Given the description of an element on the screen output the (x, y) to click on. 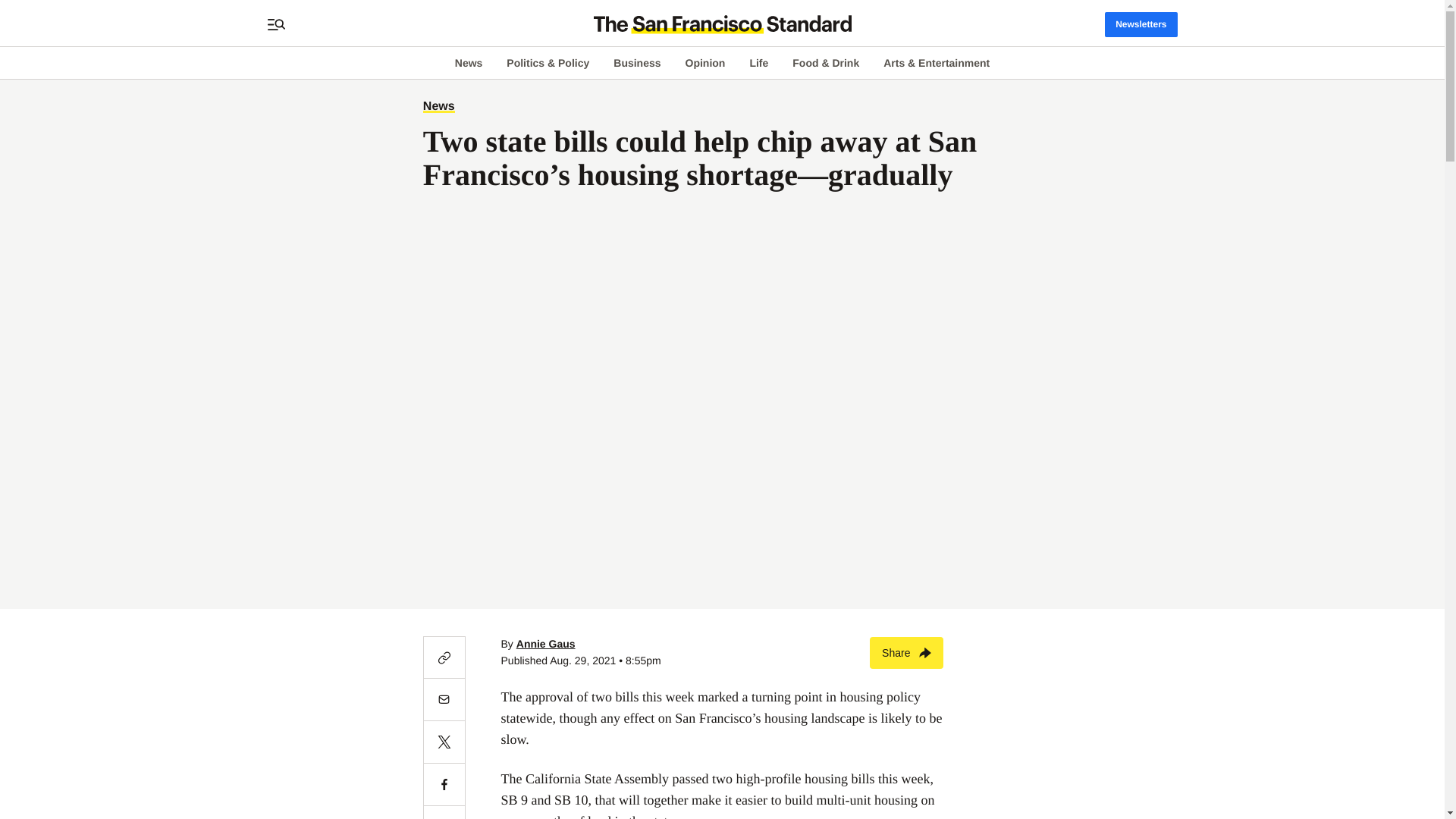
Annie Gaus (545, 644)
Share (906, 653)
Life (758, 62)
Copy link to this article (444, 657)
News (468, 62)
Open search bar and full menu (275, 24)
Business (636, 62)
Newsletters (1140, 24)
Opinion (705, 62)
News (438, 106)
